Given the description of an element on the screen output the (x, y) to click on. 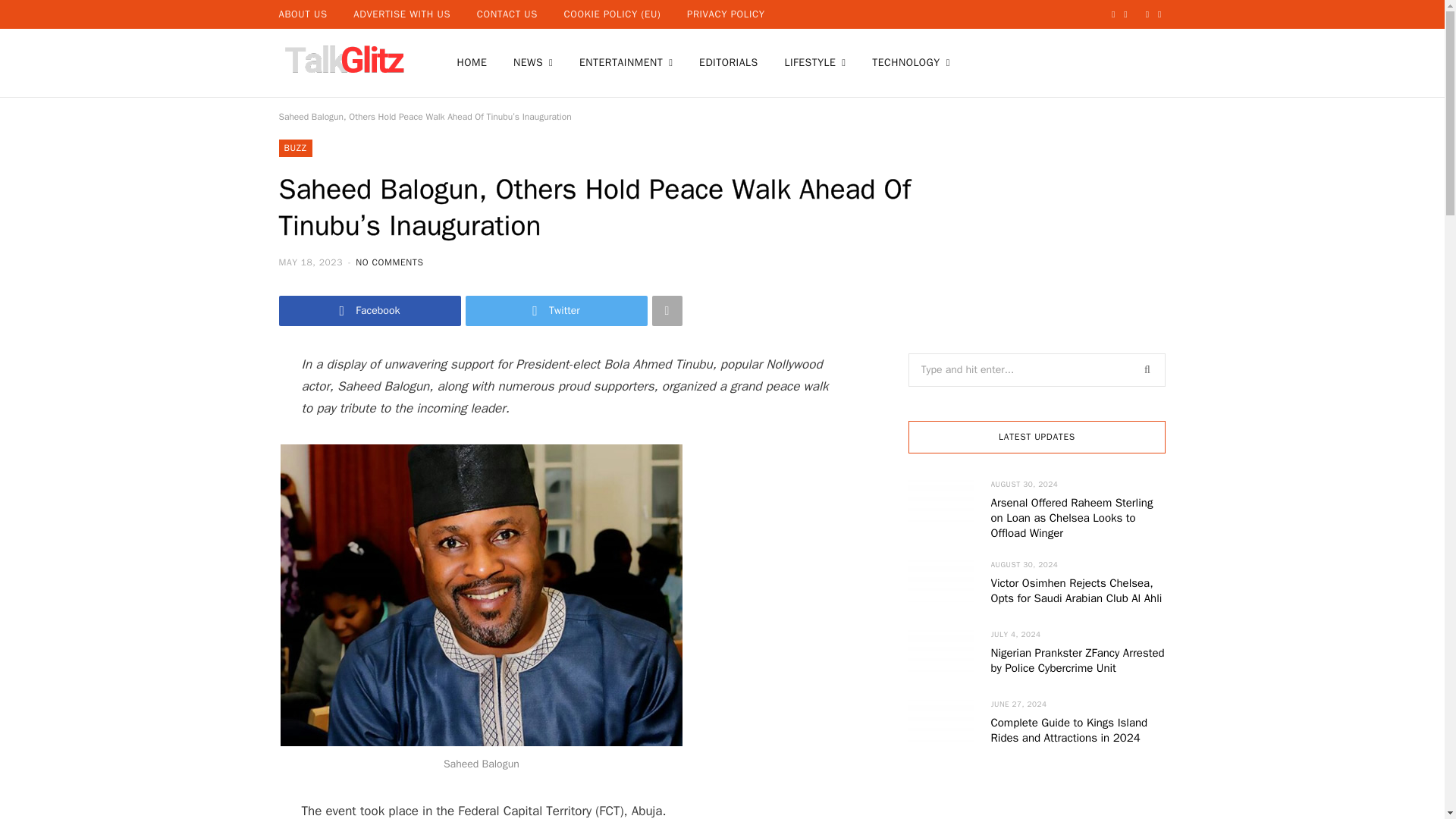
CONTACT US (506, 14)
Facebook (370, 310)
Twitter (556, 310)
PRIVACY POLICY (725, 14)
Facebook (370, 310)
ABOUT US (301, 14)
MAY 18, 2023 (312, 262)
BUZZ (296, 148)
TalkGlitz (343, 62)
